Given the description of an element on the screen output the (x, y) to click on. 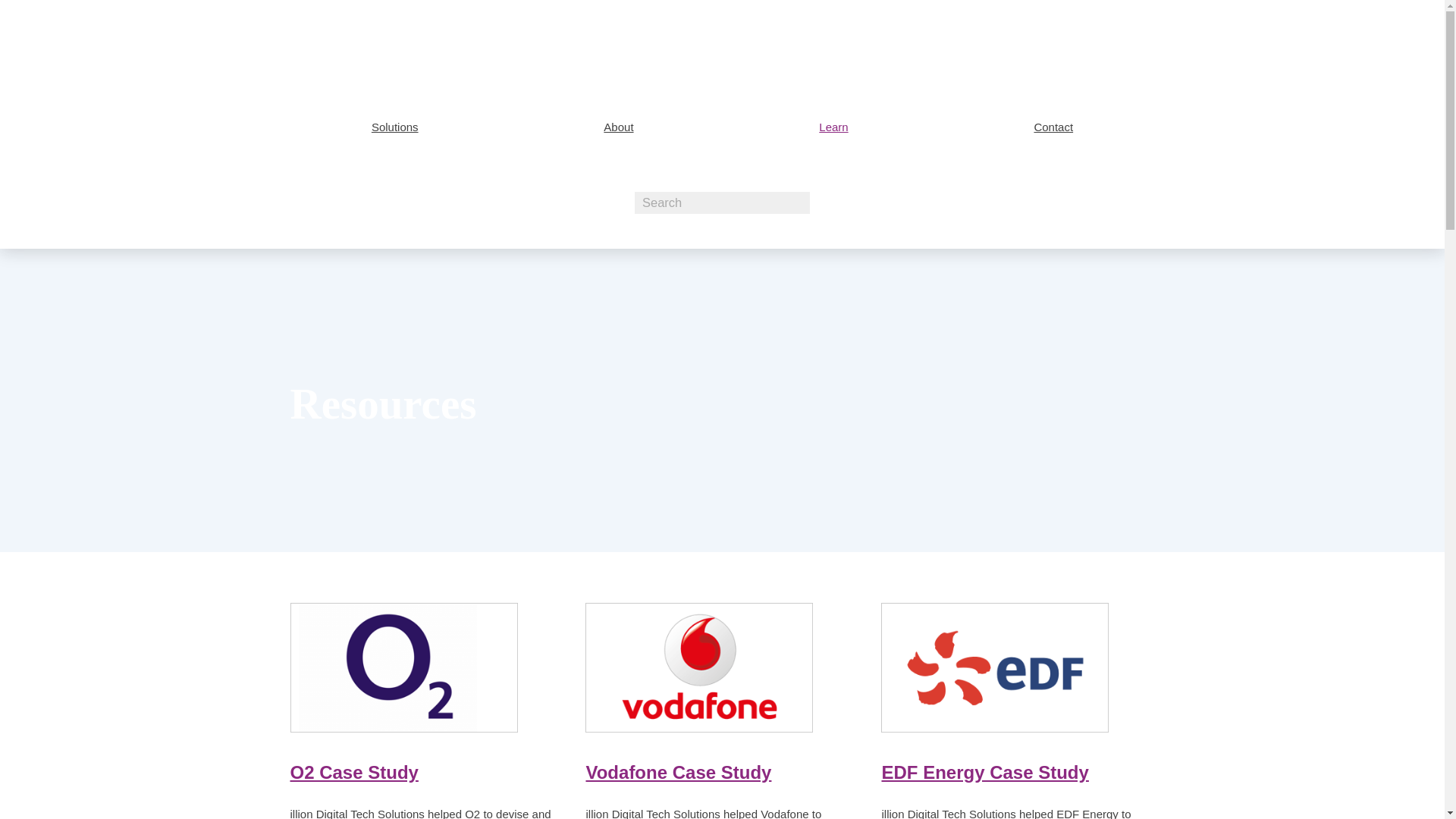
case-study-edf (994, 666)
Digital Tech Solutions (402, 43)
Contact (1053, 126)
case-study-o2 (402, 666)
Go (13, 7)
Search (721, 202)
Solutions (395, 126)
About (618, 126)
Vodafone Case Study (678, 772)
O2 Case Study (353, 772)
